Given the description of an element on the screen output the (x, y) to click on. 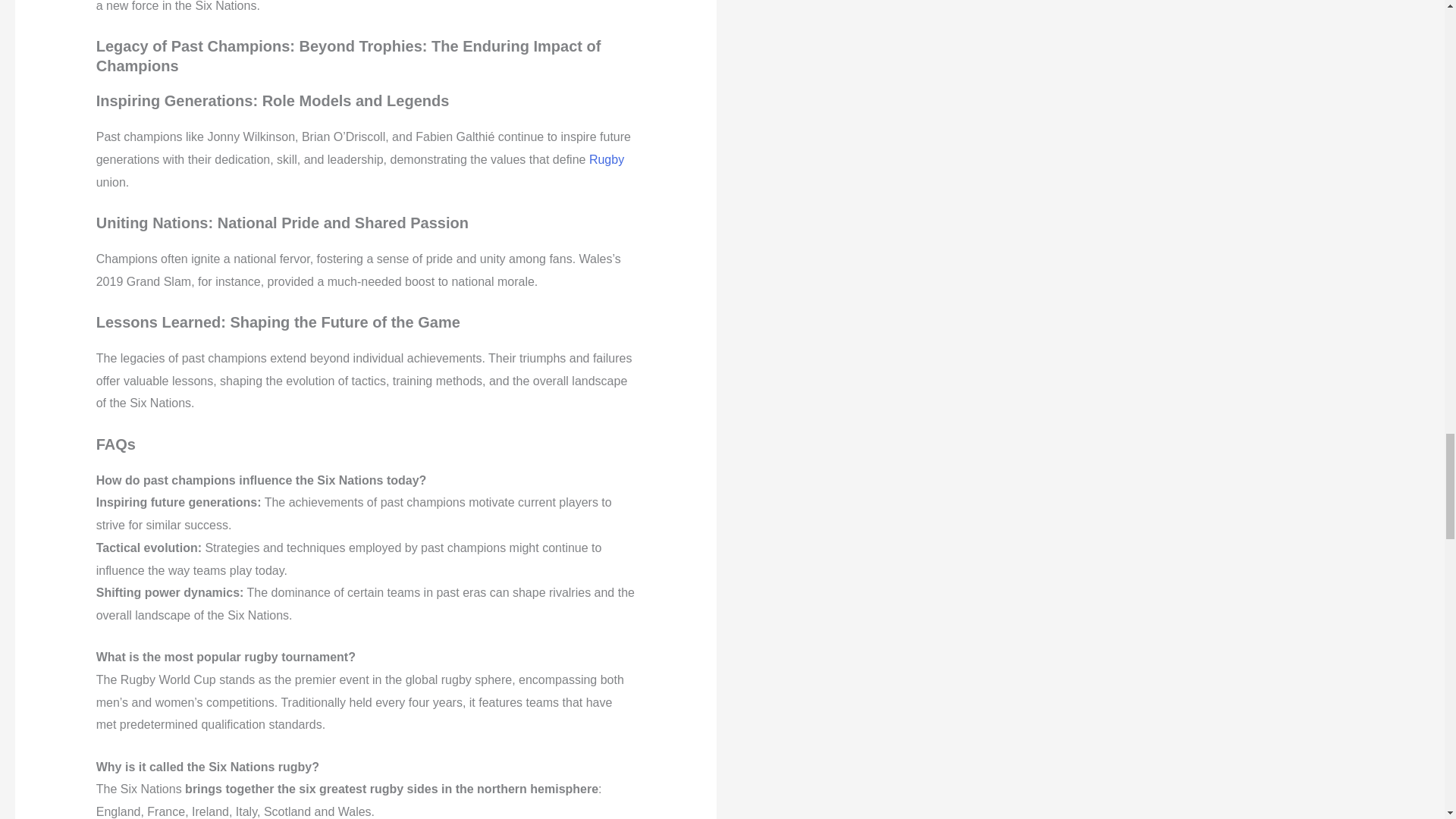
Rugby (606, 159)
